Given the description of an element on the screen output the (x, y) to click on. 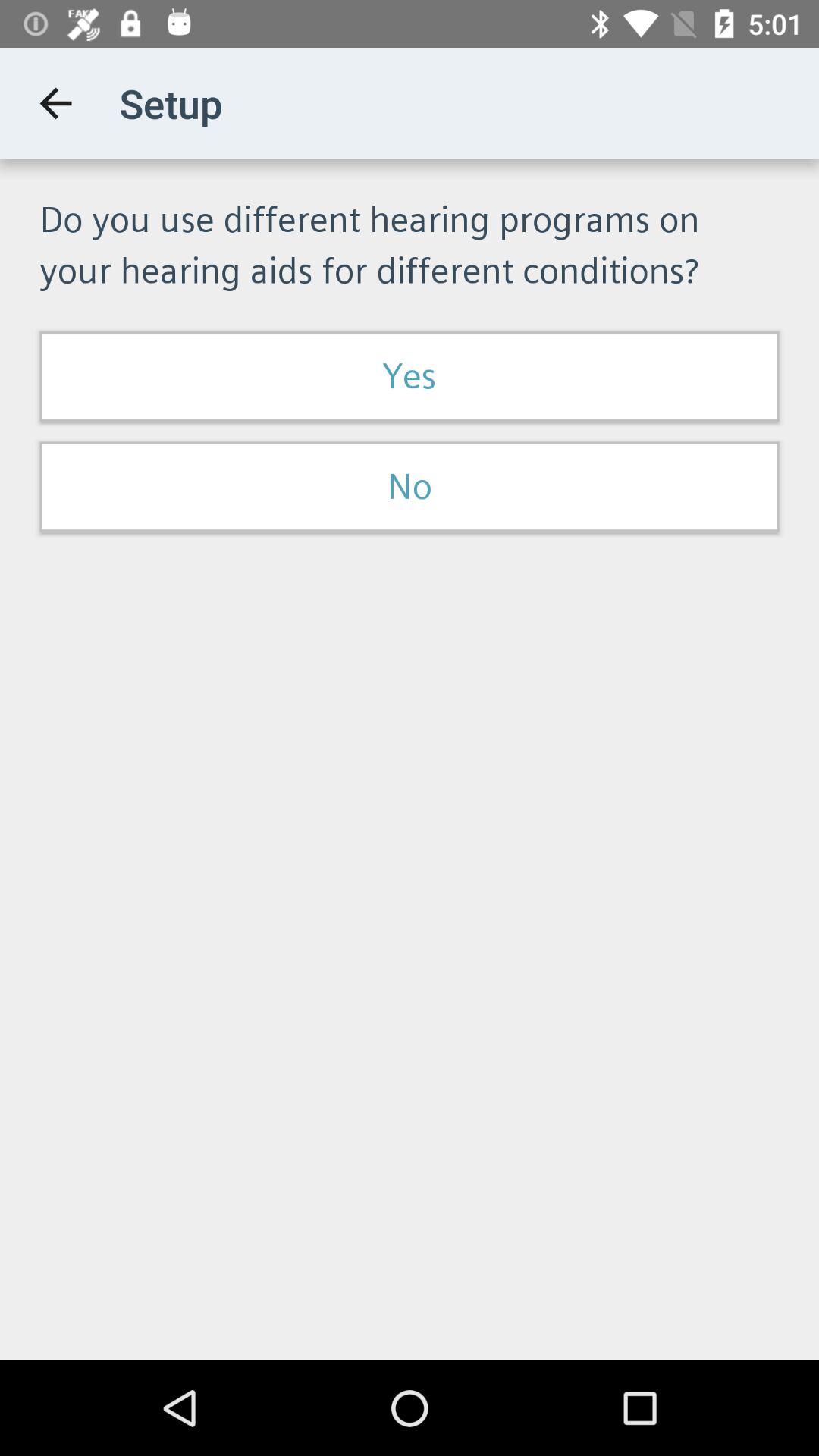
open the app next to the setup (55, 103)
